Given the description of an element on the screen output the (x, y) to click on. 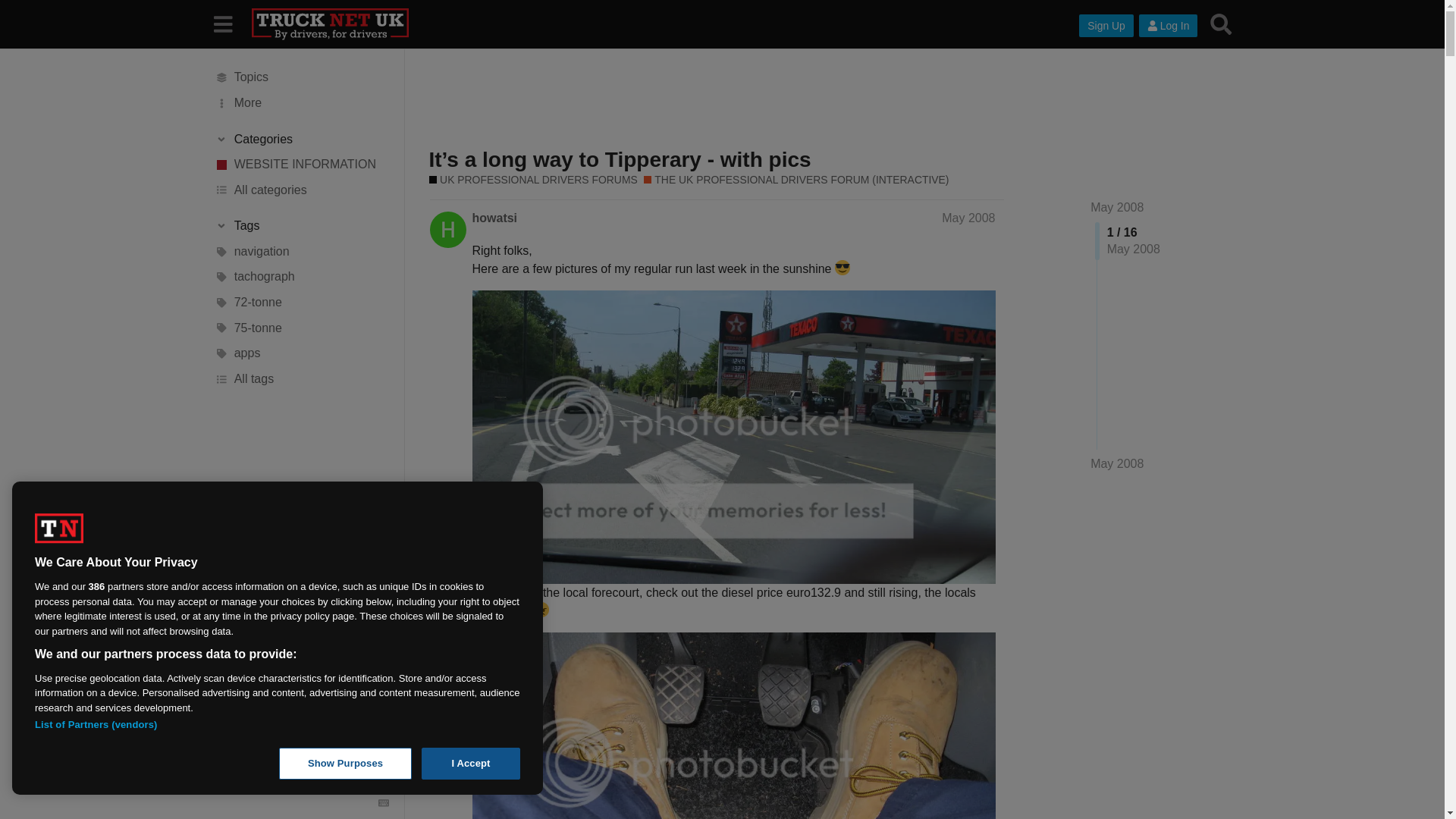
WEBSITE INFORMATION (301, 164)
Jump to the first post (1116, 206)
Toggle section (301, 139)
Log In (1168, 25)
Tags (301, 226)
howatsi (493, 217)
Jump to the last post (1116, 463)
The UK Professional Drivers Discussion forum (796, 179)
May 2008 (1116, 206)
Sidebar (222, 23)
More (301, 103)
May 2008 (1116, 463)
navigation (301, 251)
All tags (301, 379)
Categories (301, 139)
